Given the description of an element on the screen output the (x, y) to click on. 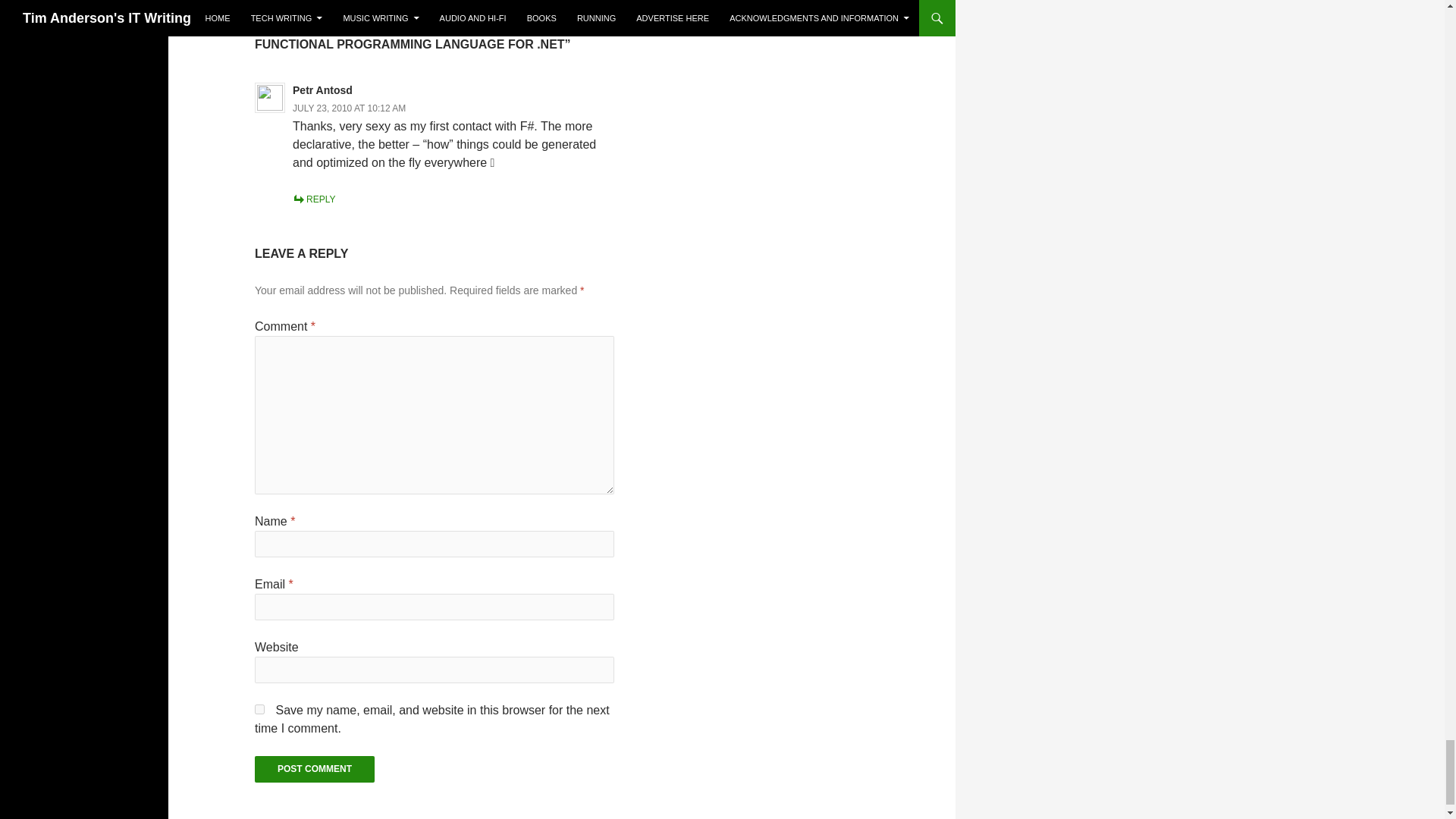
Post Comment (314, 768)
REPLY (313, 199)
yes (259, 709)
JULY 23, 2010 AT 10:12 AM (349, 108)
Post Comment (314, 768)
